Given the description of an element on the screen output the (x, y) to click on. 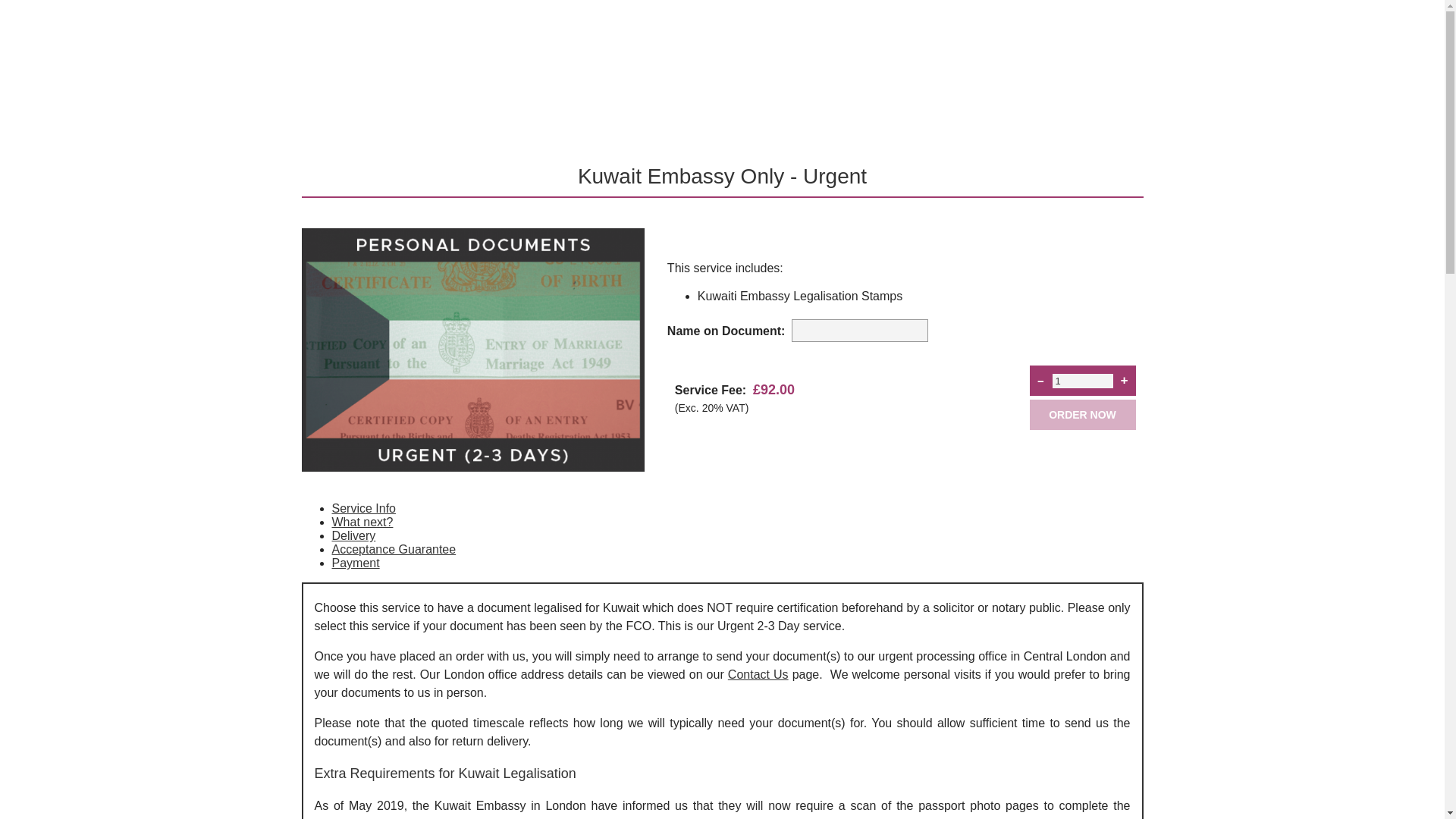
ORDER NOW (1082, 414)
Delivery (353, 535)
Acceptance Guarantee (394, 549)
Payment (355, 562)
What next? (362, 521)
Contact Us (758, 674)
Service Info (363, 508)
1 (1082, 380)
